Given the description of an element on the screen output the (x, y) to click on. 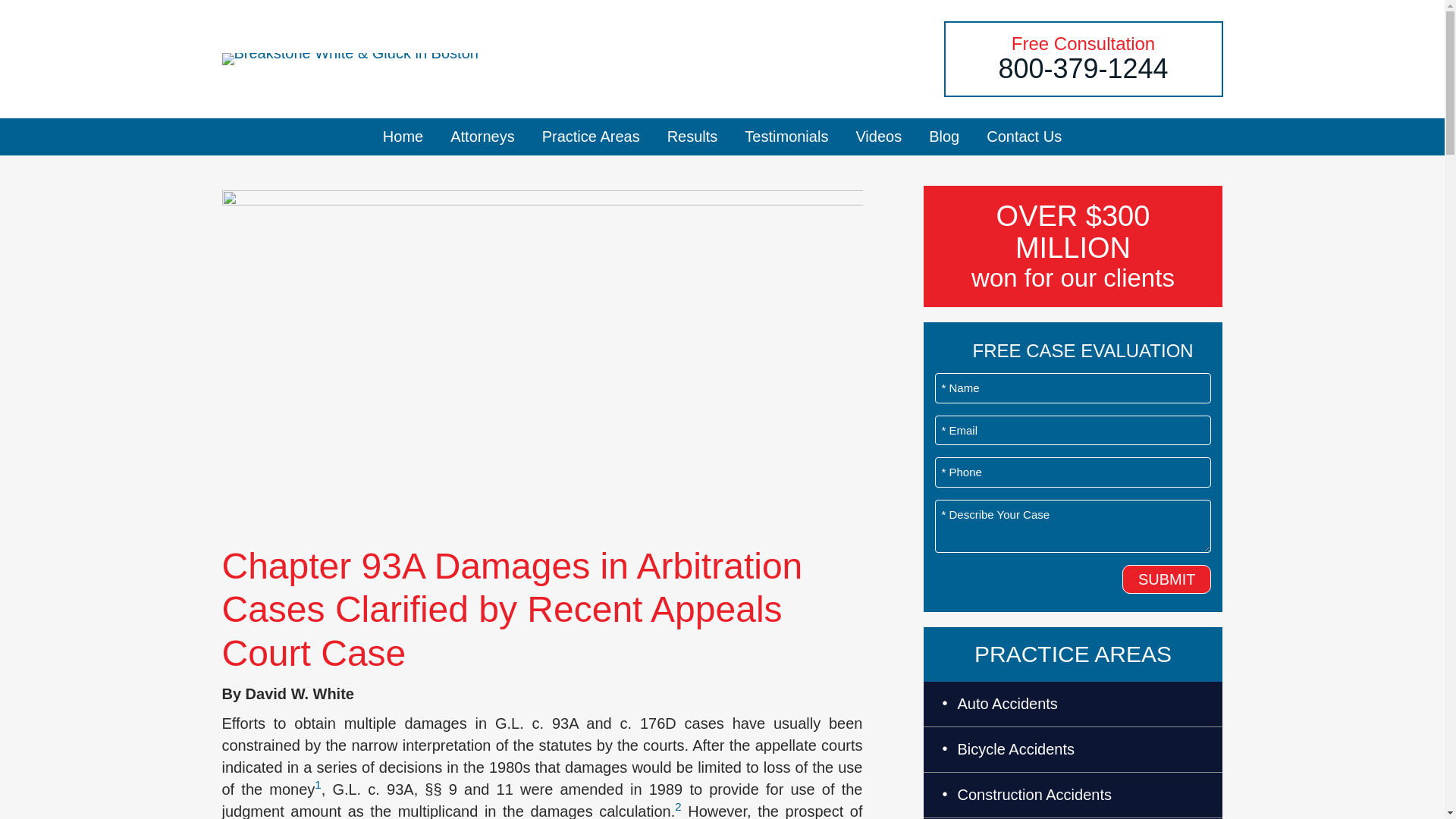
Videos (878, 136)
Results (692, 136)
Home (402, 136)
Testimonials (785, 136)
Submit (1166, 579)
Practice Areas (590, 136)
800-379-1244 (1082, 68)
Attorneys (481, 136)
Blog (943, 136)
Contact Us (1023, 136)
